Given the description of an element on the screen output the (x, y) to click on. 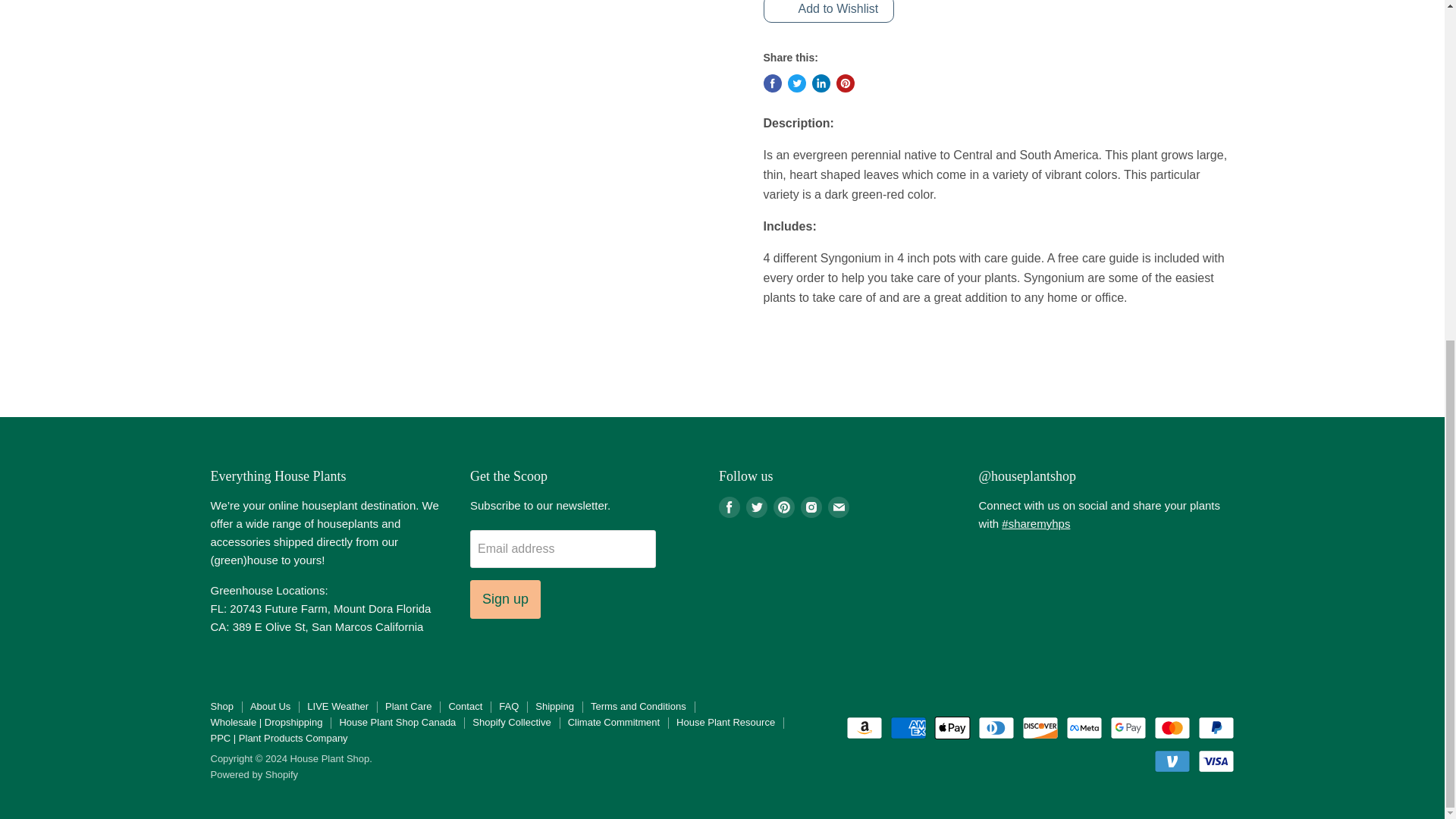
Pinterest (783, 506)
Facebook (729, 506)
E-mail (838, 506)
Twitter (756, 506)
Instagram (811, 506)
